Given the description of an element on the screen output the (x, y) to click on. 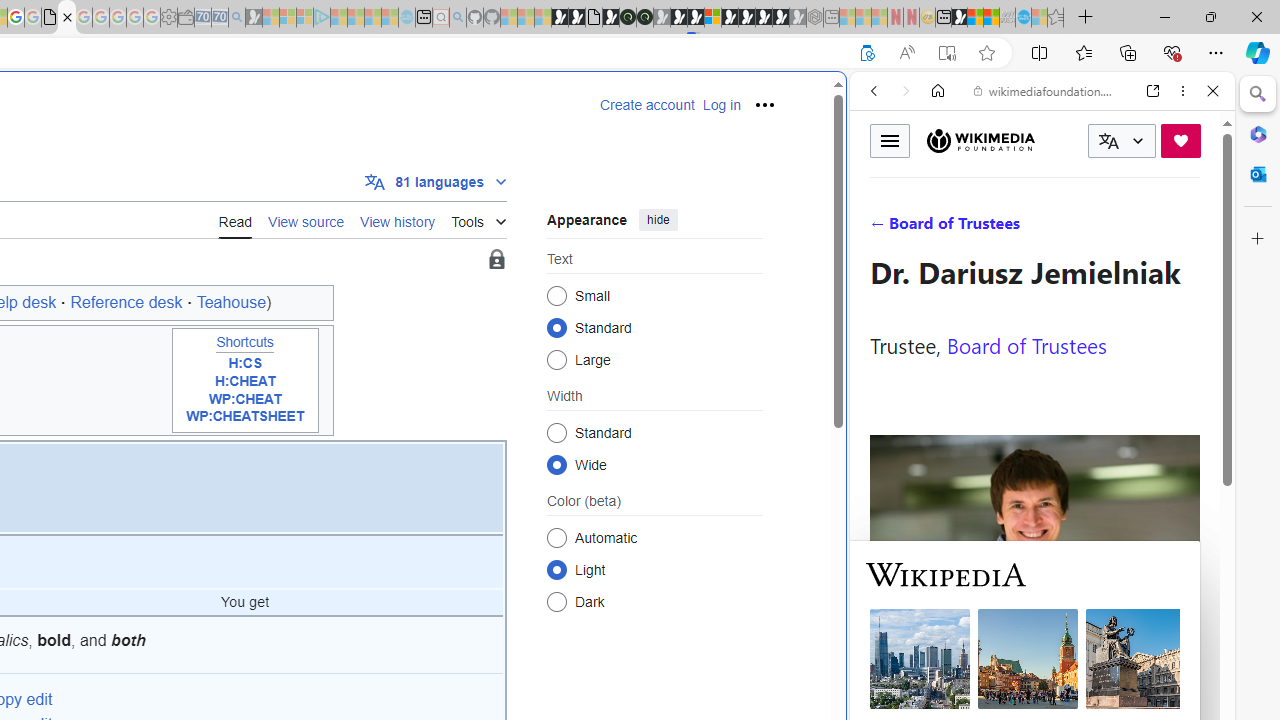
View source (306, 219)
WP:CHEAT (244, 398)
Donate now (1180, 140)
hide (658, 219)
Sign in to your account (712, 17)
SEARCH TOOLS (1093, 228)
